Given the description of an element on the screen output the (x, y) to click on. 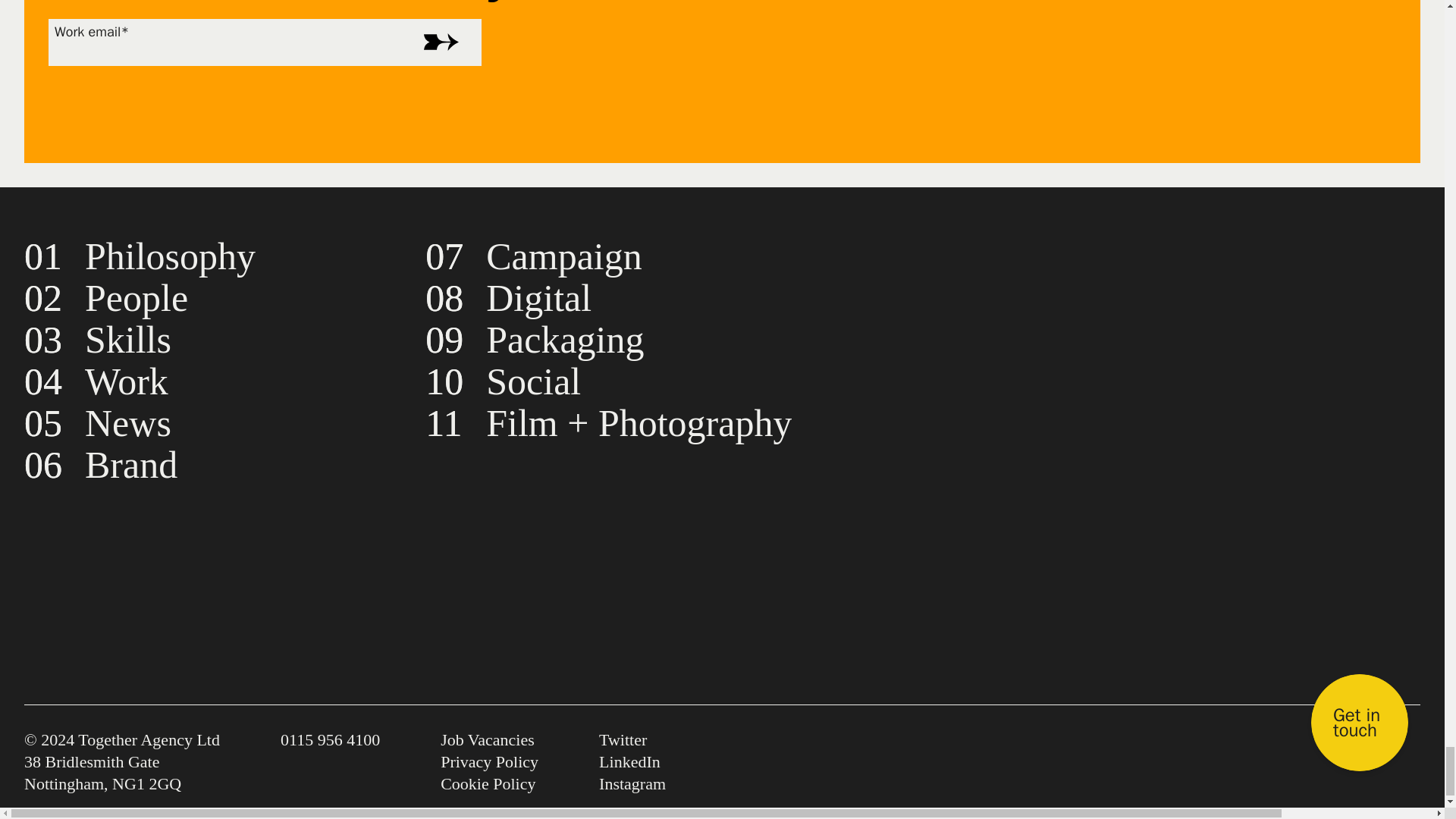
01Philosophy (140, 256)
06Brand (100, 464)
10Social (502, 381)
Submit (437, 42)
08Digital (508, 297)
04Work (96, 381)
02People (105, 297)
09Packaging (534, 339)
Submit (437, 42)
07Campaign (533, 256)
03Skills (97, 339)
05News (97, 423)
